Given the description of an element on the screen output the (x, y) to click on. 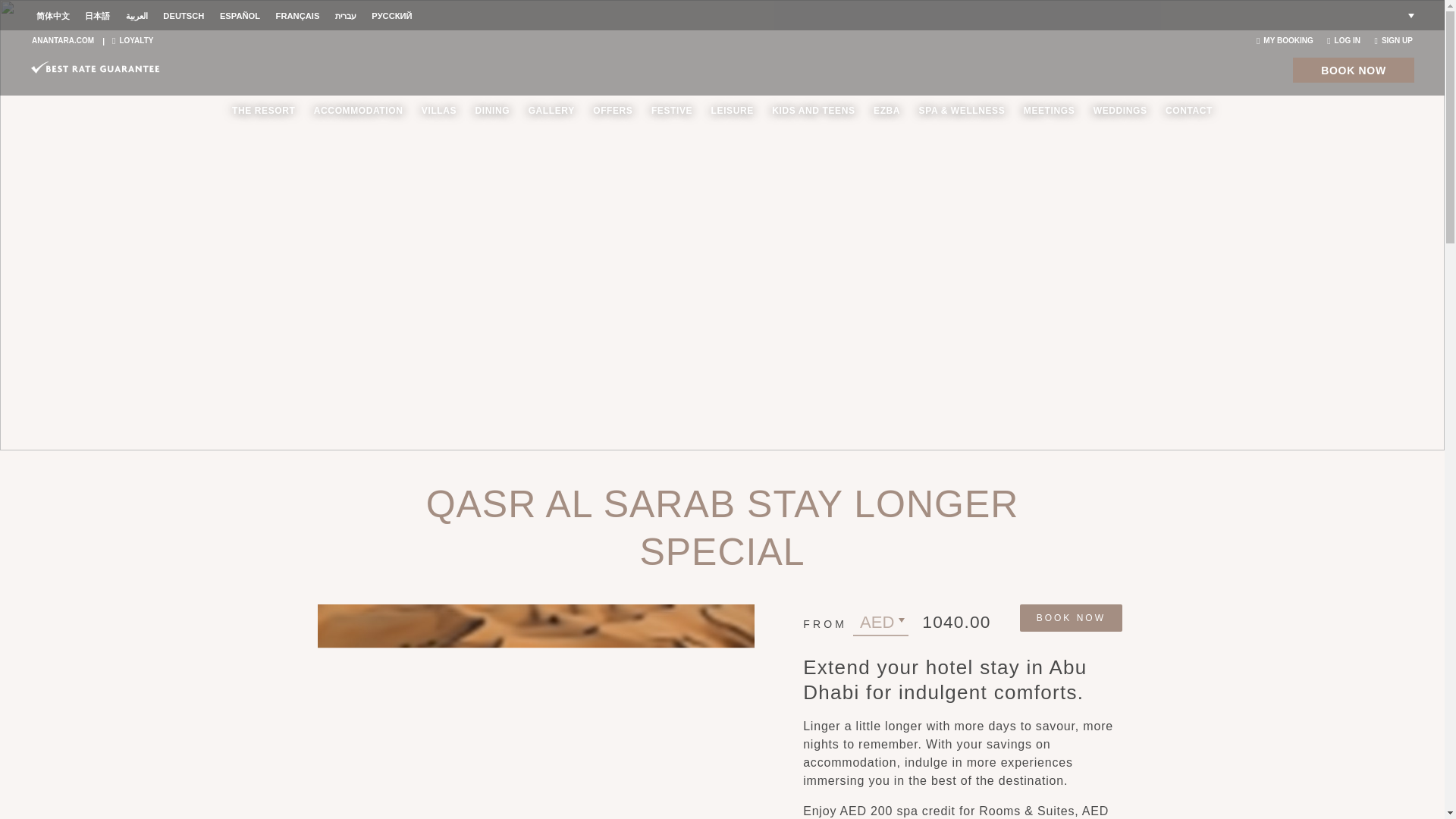
LOYALTY (132, 40)
BOOK NOW (1352, 69)
LOG IN (1342, 40)
MY BOOKING (1284, 40)
DEUTSCH (183, 16)
ANANTARA.COM (63, 40)
SIGN UP (1393, 40)
BEST RATE GUARANTEE (95, 66)
